Given the description of an element on the screen output the (x, y) to click on. 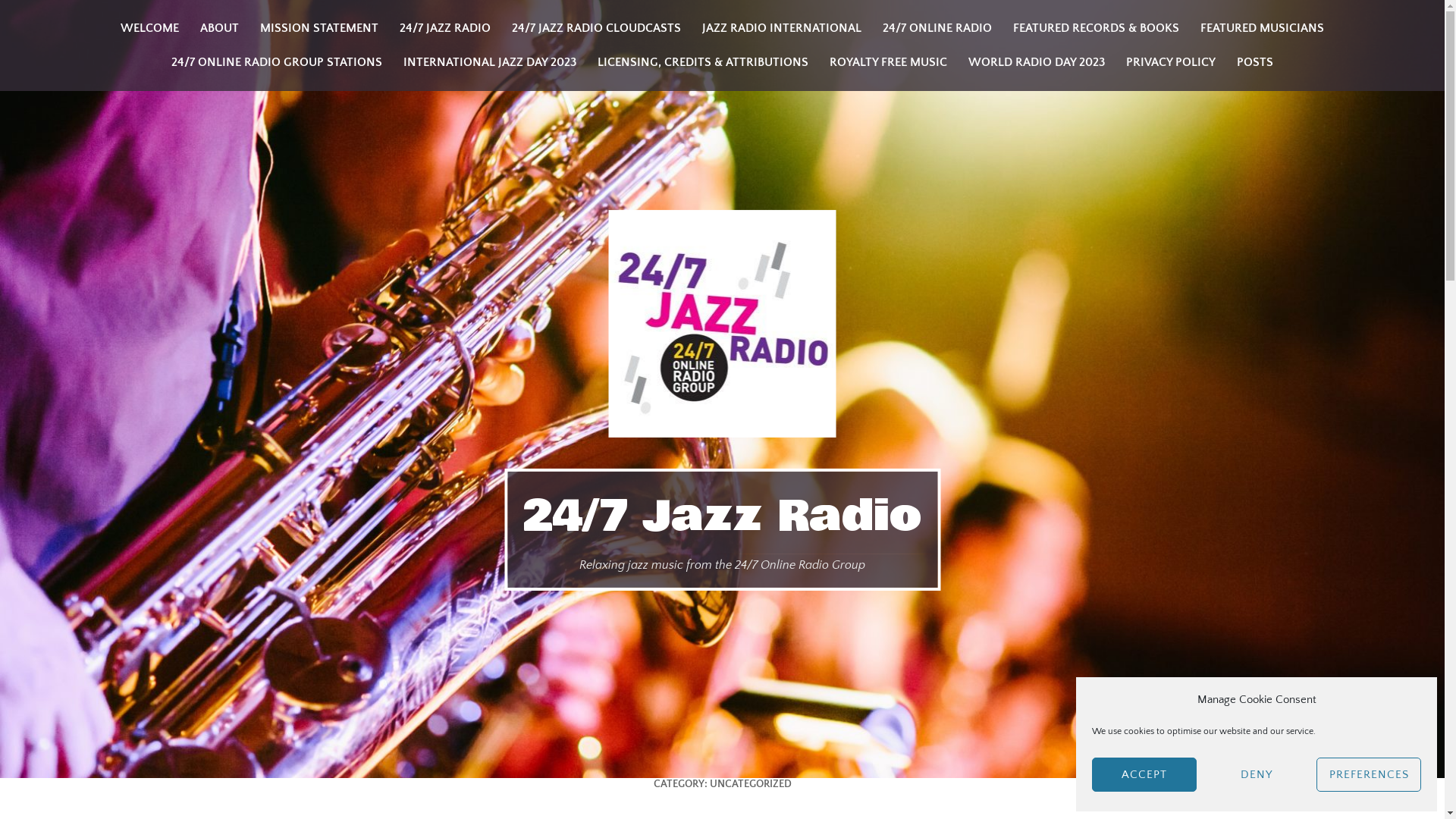
FEATURED MUSICIANS Element type: text (1262, 28)
PREFERENCES Element type: text (1368, 774)
ACCEPT Element type: text (1144, 774)
WORLD RADIO DAY 2023 Element type: text (1036, 62)
WELCOME Element type: text (149, 28)
INTERNATIONAL JAZZ DAY 2023 Element type: text (489, 62)
MISSION STATEMENT Element type: text (319, 28)
POSTS Element type: text (1254, 62)
24/7 JAZZ RADIO CLOUDCASTS Element type: text (596, 28)
PRIVACY POLICY Element type: text (1170, 62)
24/7 Jazz Radio Element type: text (722, 516)
24/7 JAZZ RADIO Element type: text (444, 28)
ABOUT Element type: text (219, 28)
FEATURED RECORDS & BOOKS Element type: text (1096, 28)
DENY Element type: text (1256, 774)
LICENSING, CREDITS & ATTRIBUTIONS Element type: text (702, 62)
24/7 ONLINE RADIO Element type: text (937, 28)
JAZZ RADIO INTERNATIONAL Element type: text (781, 28)
24/7 ONLINE RADIO GROUP STATIONS Element type: text (276, 62)
ROYALTY FREE MUSIC Element type: text (888, 62)
